Given the description of an element on the screen output the (x, y) to click on. 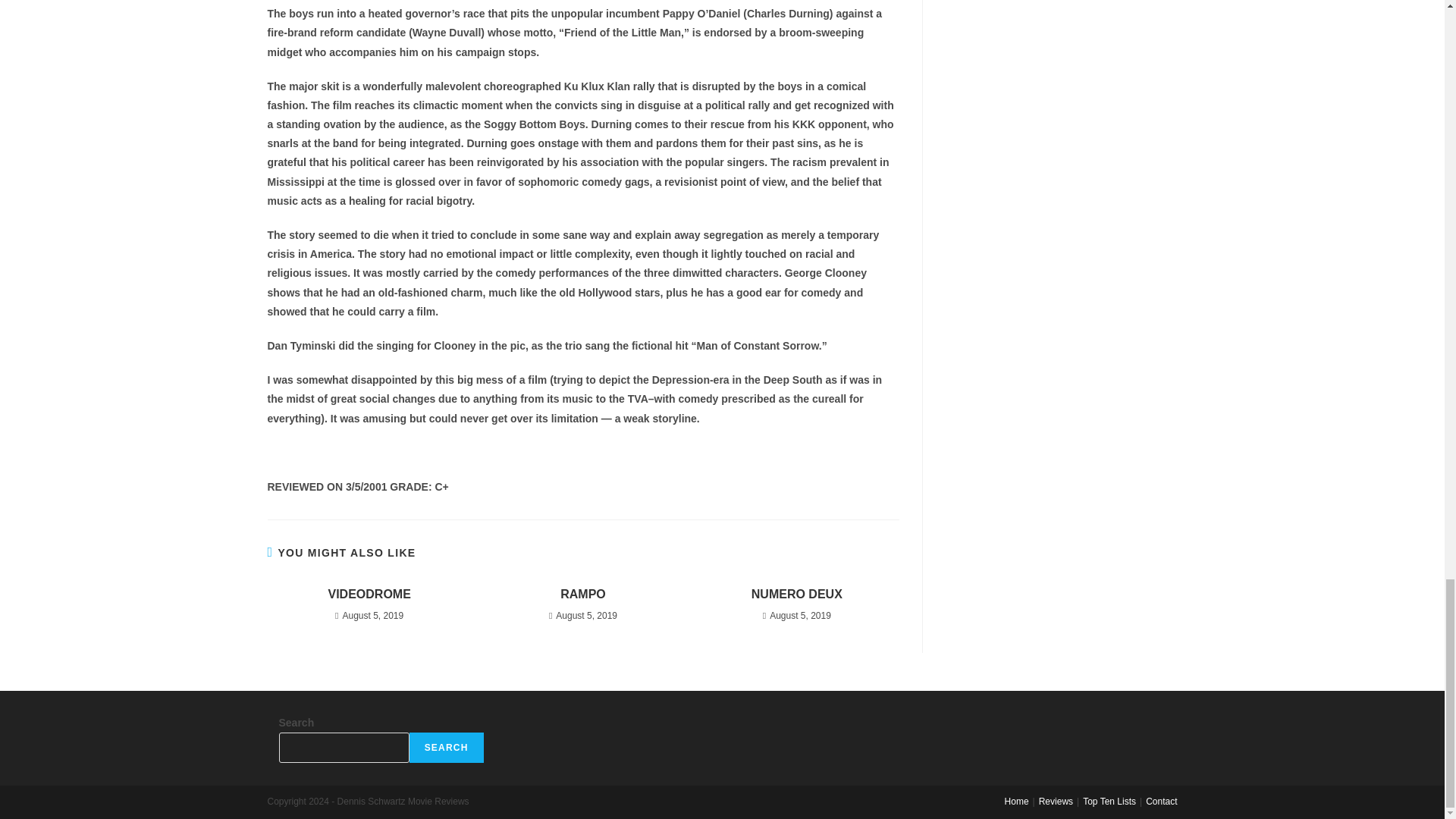
Top Ten Lists (1109, 801)
RAMPO (582, 594)
NUMERO DEUX (796, 594)
VIDEODROME (368, 594)
SEARCH (446, 747)
Reviews (1056, 801)
Contact (1160, 801)
Home (1016, 801)
